Given the description of an element on the screen output the (x, y) to click on. 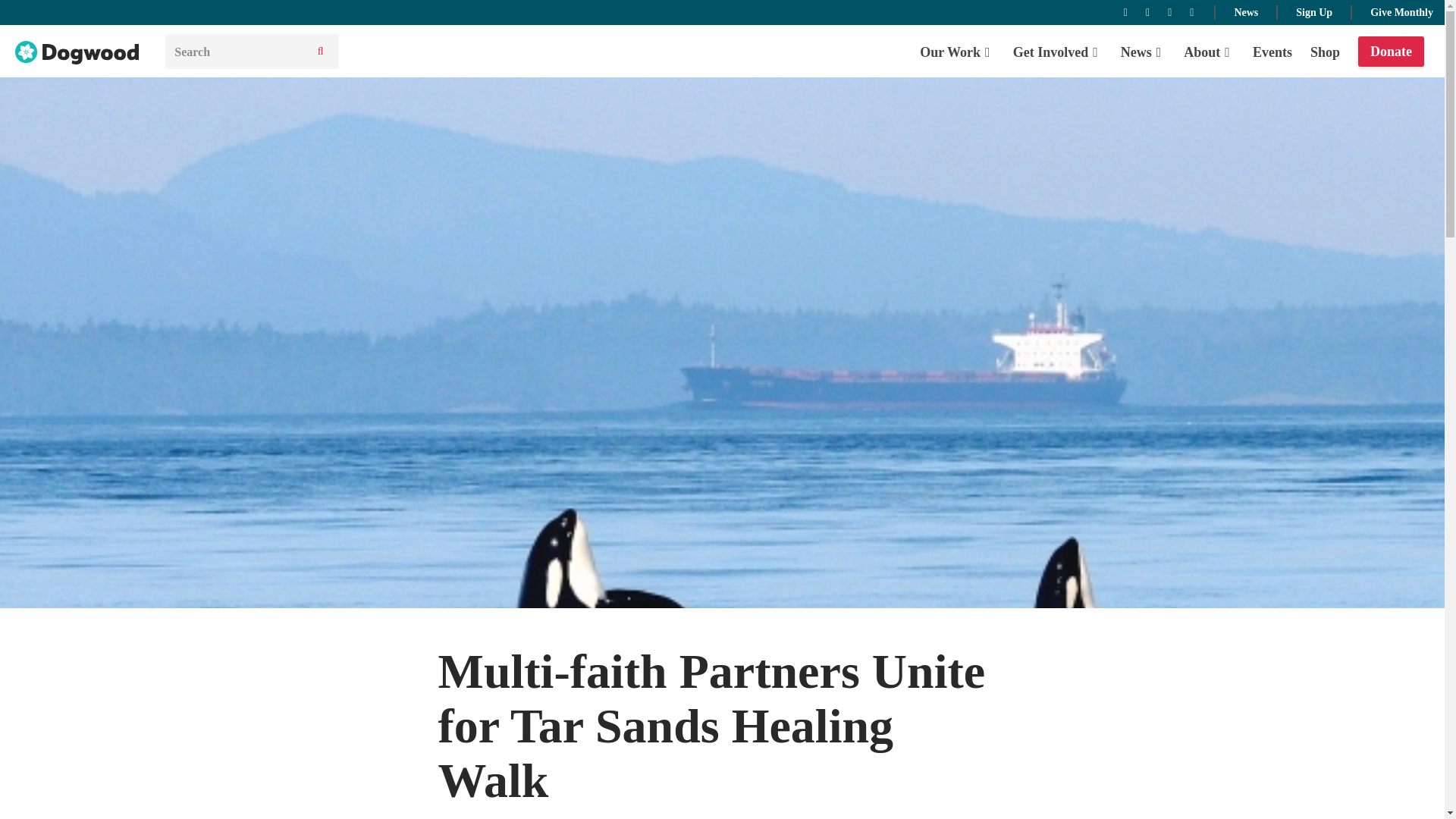
Shop (1324, 51)
Give Monthly (1401, 11)
Dogwood (76, 52)
Get Involved (1057, 51)
News (1143, 51)
Donate (1391, 51)
Sign Up (1313, 11)
Our Work (957, 51)
About (1208, 51)
Events (1272, 51)
Search for: (234, 51)
News (1245, 11)
